Given the description of an element on the screen output the (x, y) to click on. 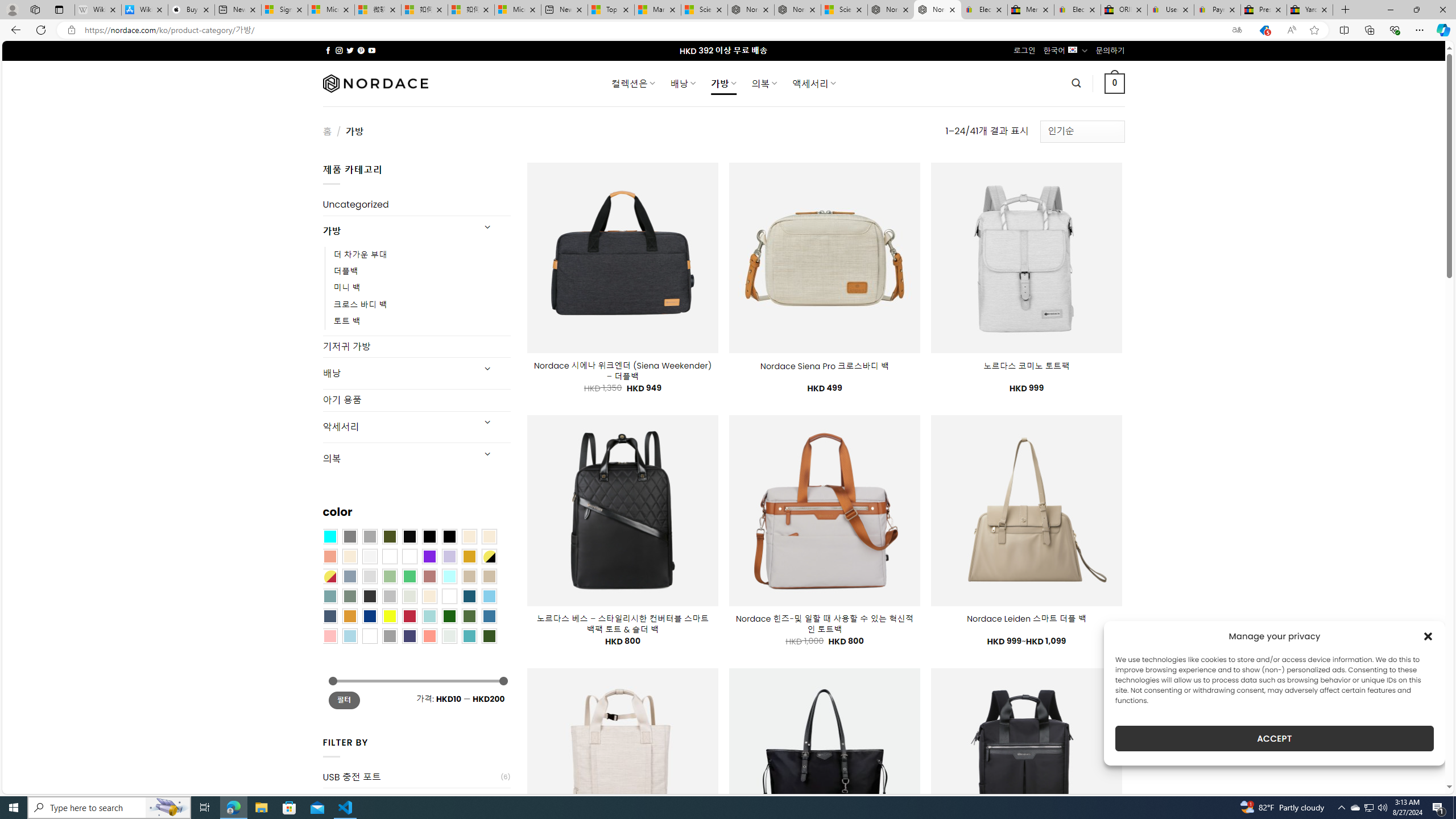
User Privacy Notice | eBay (1170, 9)
Dull Nickle (449, 635)
Uncategorized (416, 204)
Microsoft account | Account Checkup (517, 9)
